Given the description of an element on the screen output the (x, y) to click on. 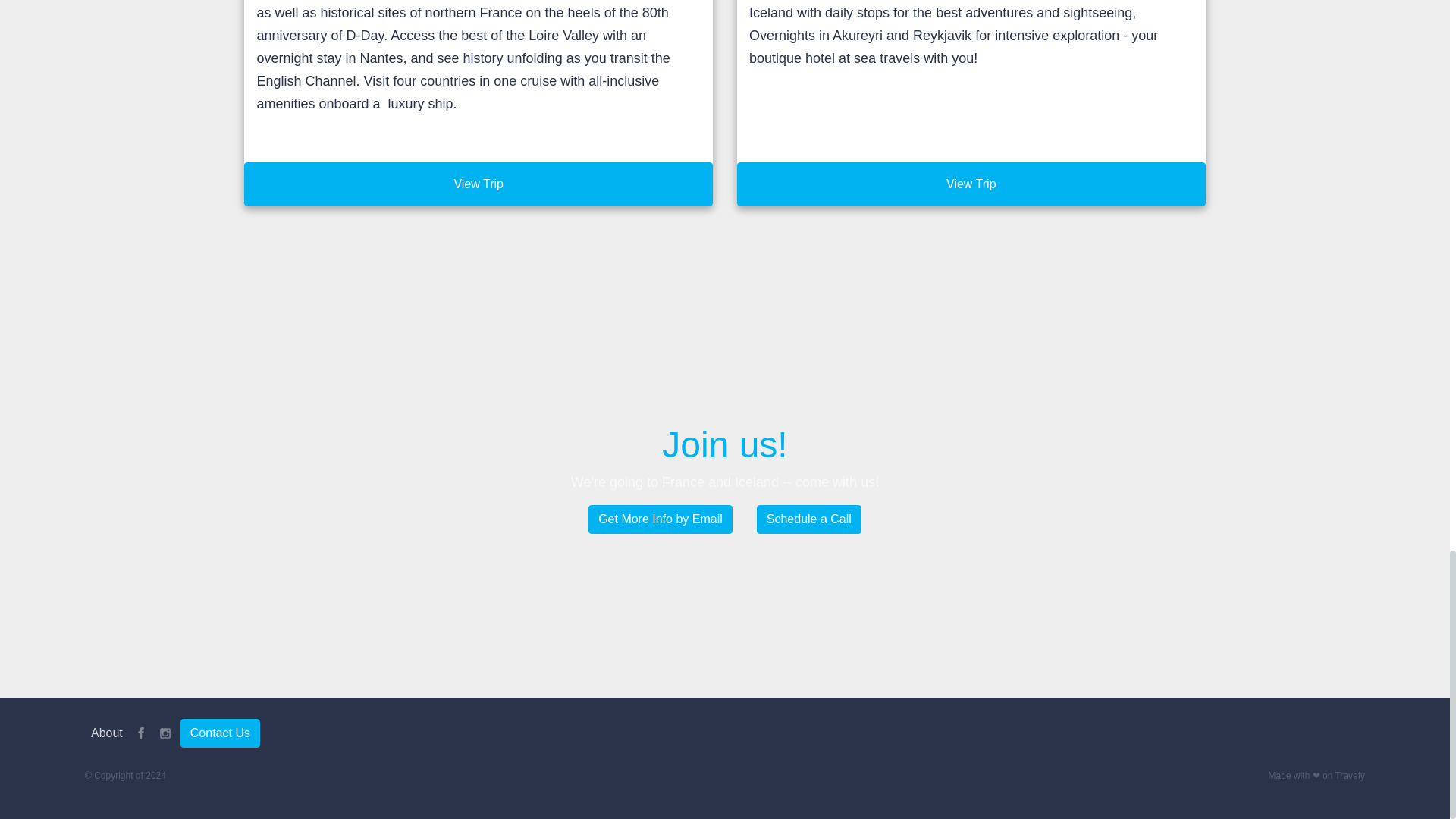
About (106, 733)
Contact Us (220, 733)
Get More Info by Email (660, 519)
Schedule a Call (809, 519)
View Trip (970, 184)
View Trip (478, 184)
